Given the description of an element on the screen output the (x, y) to click on. 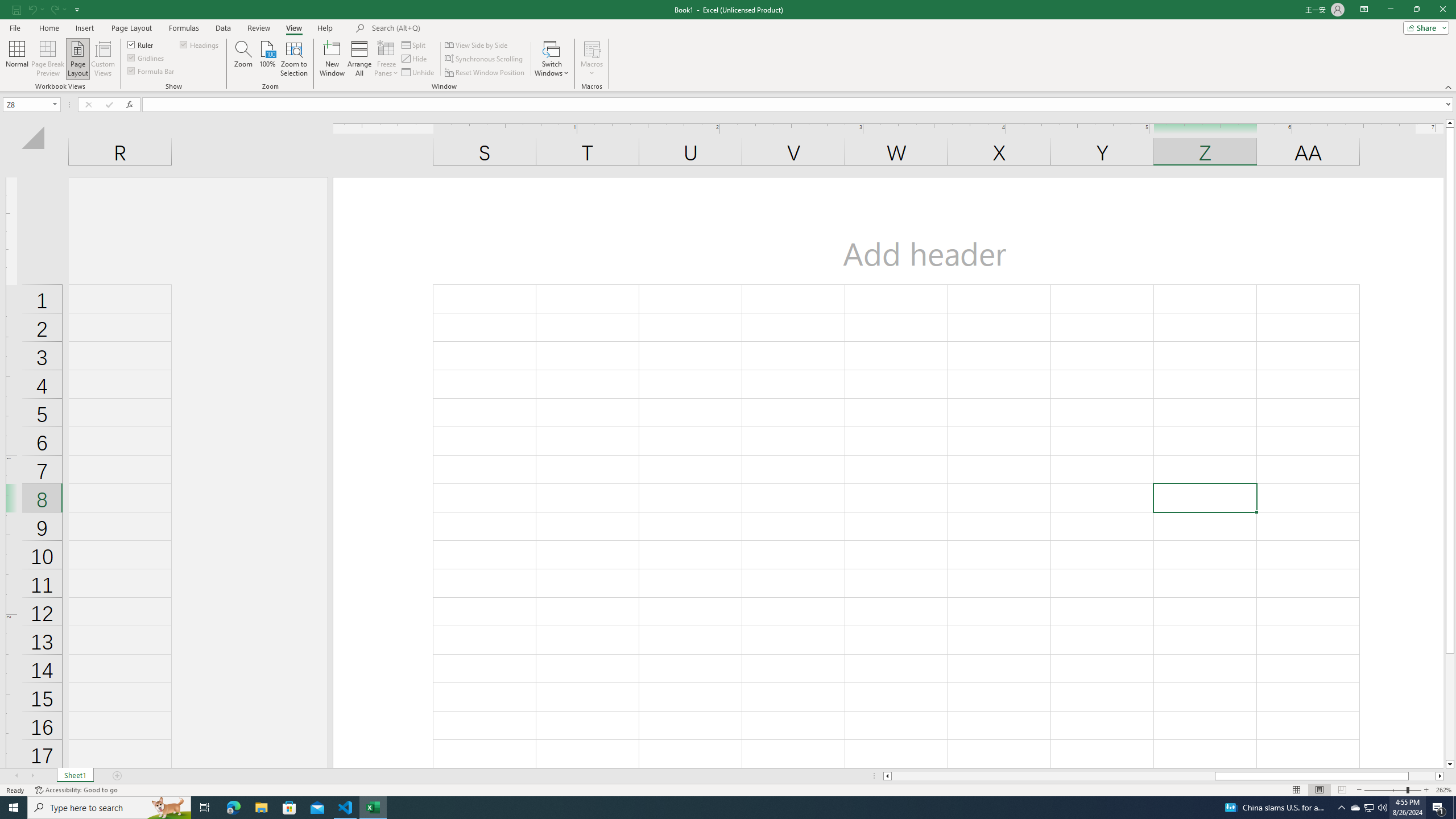
Unhide... (419, 72)
Hide (415, 58)
Page left (1052, 775)
View Macros (591, 48)
New Window (332, 58)
Headings (199, 44)
Custom Views... (103, 58)
